Given the description of an element on the screen output the (x, y) to click on. 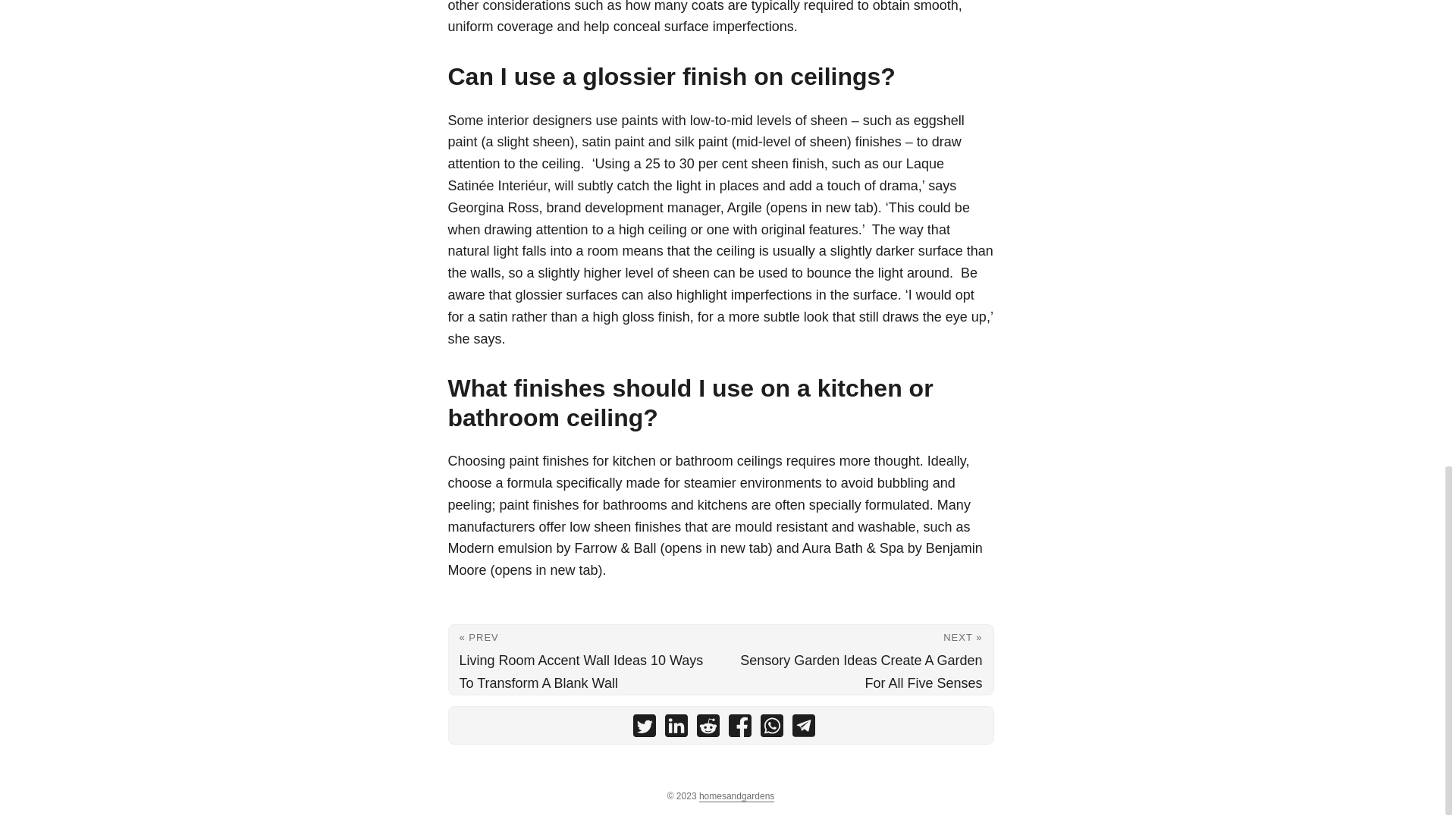
homesandgardens (736, 796)
